Given the description of an element on the screen output the (x, y) to click on. 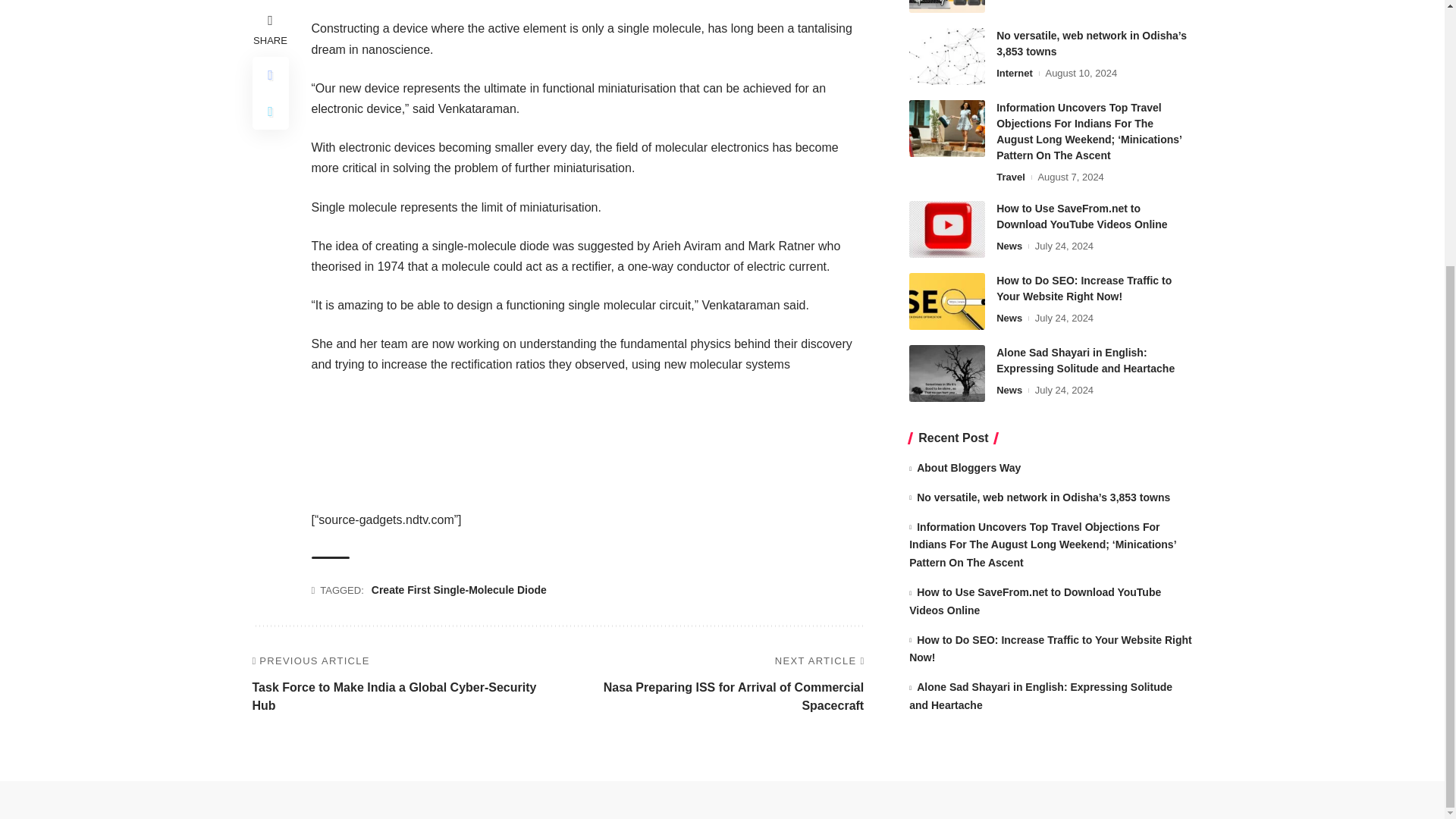
How to Do SEO: Increase Traffic to Your Website Right Now! (946, 301)
About Bloggers Way (946, 6)
How to Use SaveFrom.net to Download YouTube Videos Online (946, 228)
